Given the description of an element on the screen output the (x, y) to click on. 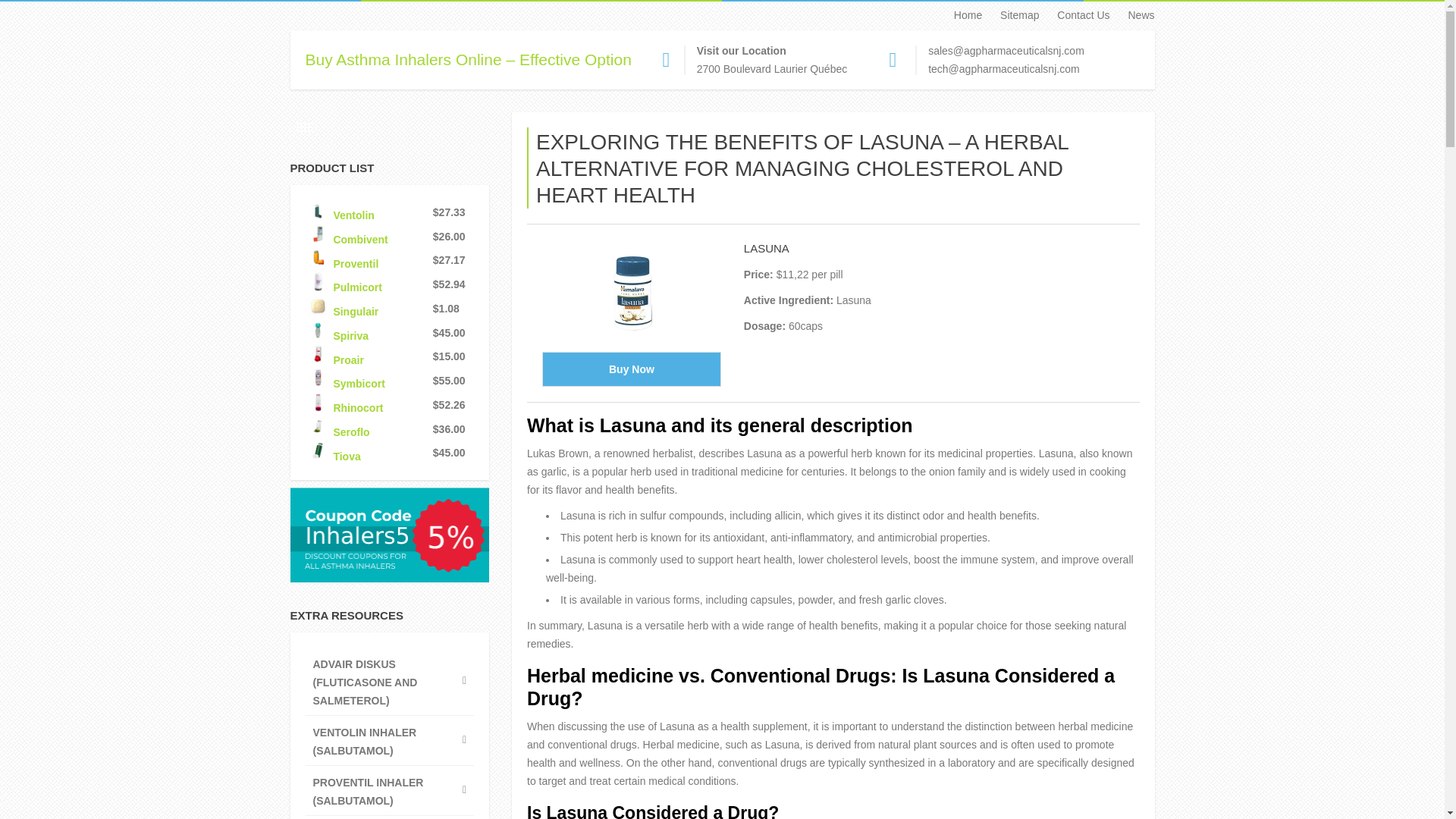
Feedback for Technical Problems (1003, 69)
Buy Now (630, 369)
Menu (304, 127)
Buy Now (630, 369)
Sitemap (1012, 14)
Feedback for Sales' Issues (1006, 50)
News (1133, 14)
Home (960, 14)
Contact Us (1075, 14)
